Given the description of an element on the screen output the (x, y) to click on. 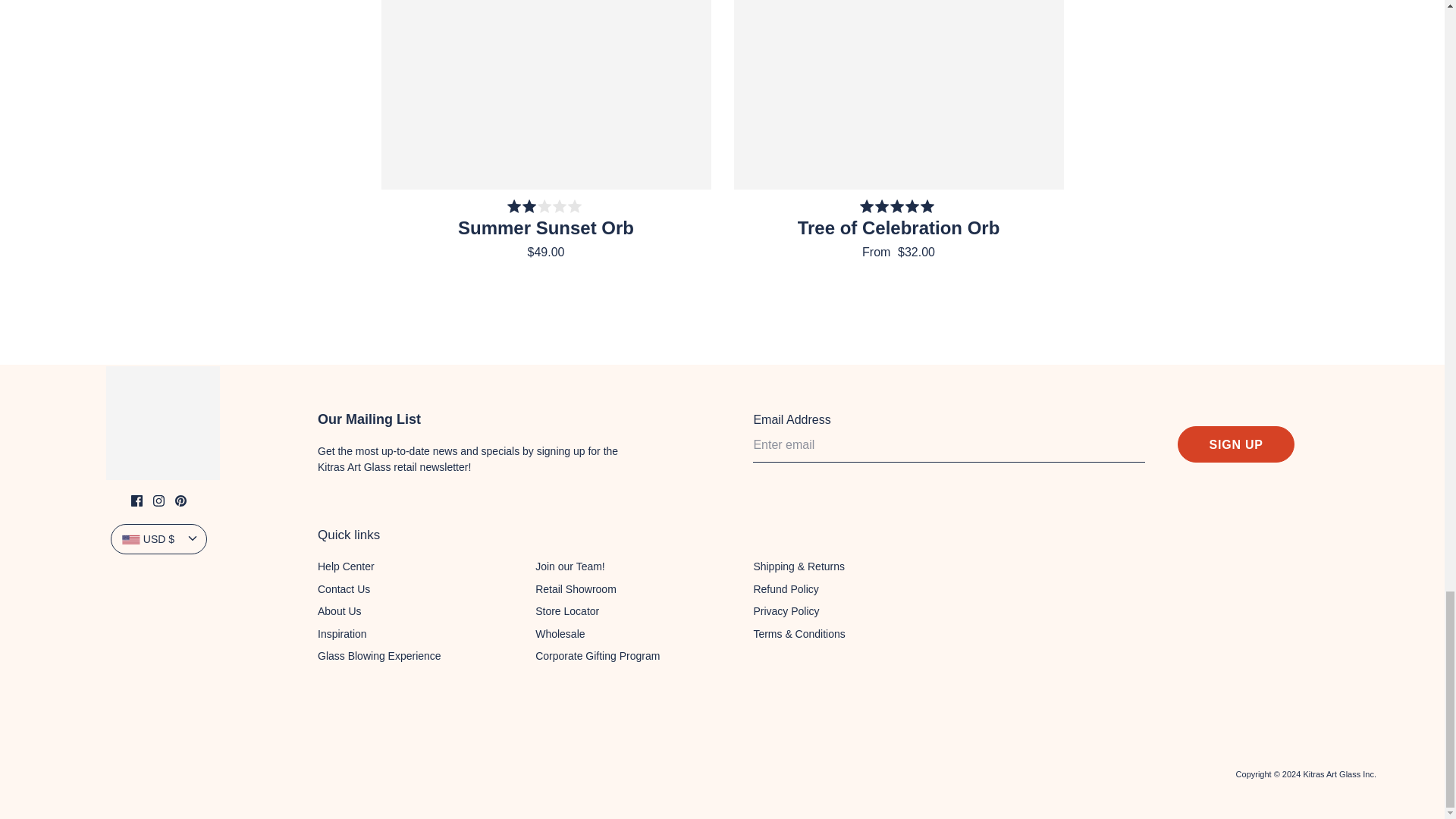
Pinterest (180, 500)
Instagram (158, 500)
Down (192, 538)
Facebook (136, 500)
